Given the description of an element on the screen output the (x, y) to click on. 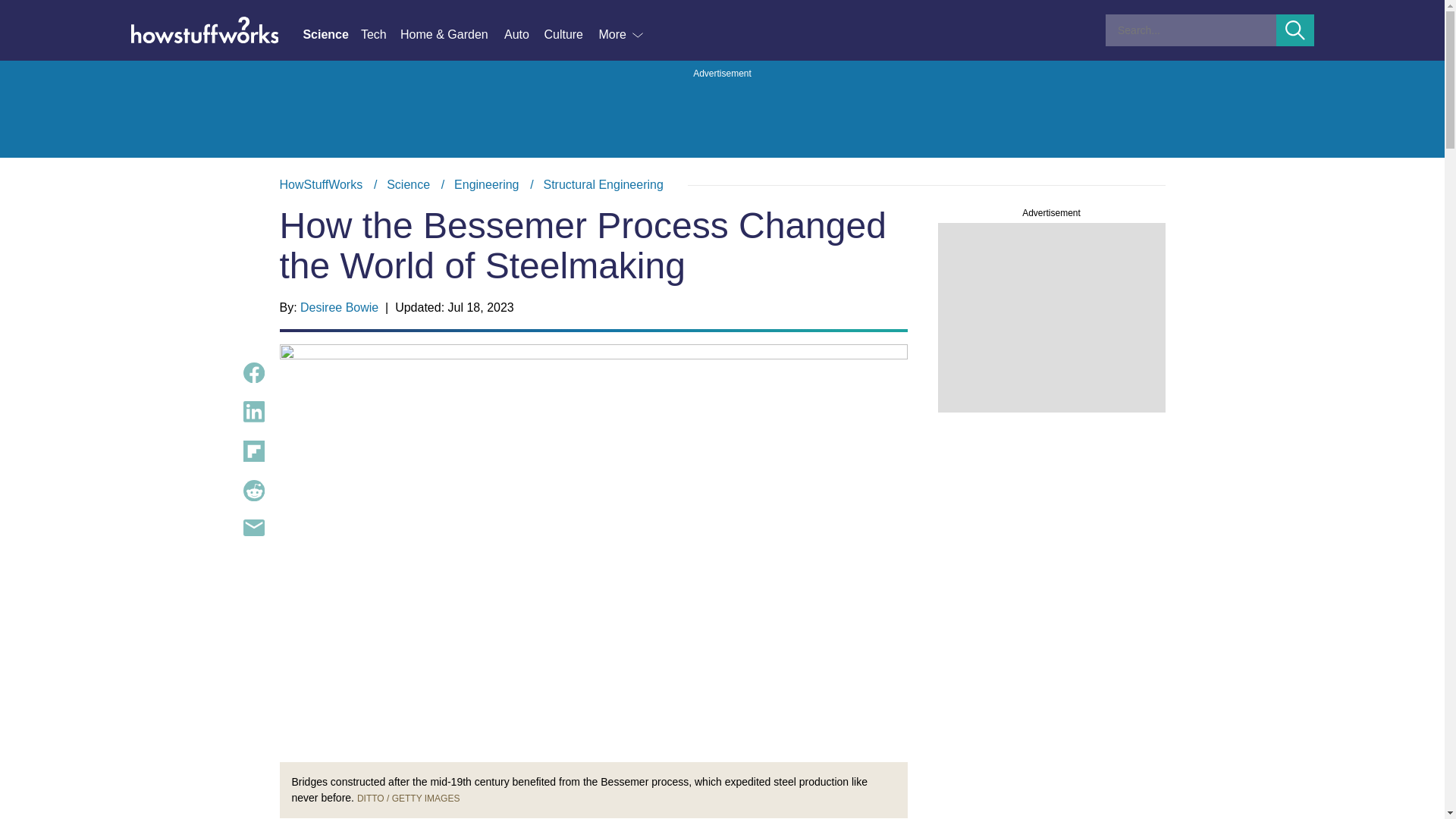
Share Content on Reddit (253, 490)
Share Content on Flipboard (253, 450)
Tech (380, 34)
Culture (570, 34)
More (621, 34)
Submit Search (1295, 29)
Desiree Bowie (338, 307)
Science (408, 184)
Share Content on LinkedIn (253, 411)
Engineering (486, 184)
